Given the description of an element on the screen output the (x, y) to click on. 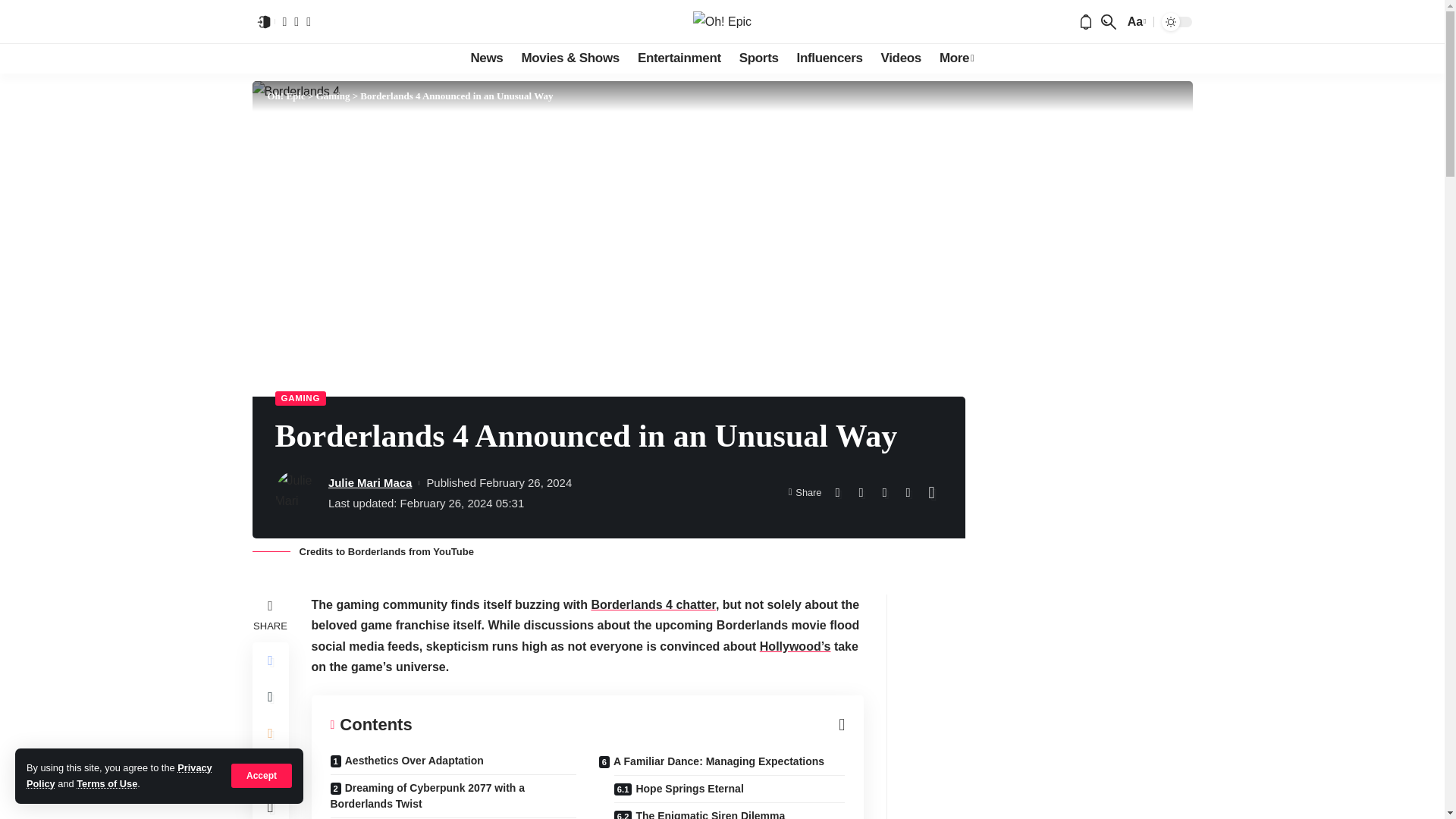
Oh! Epic (722, 21)
Go to Oh! Epic. (285, 95)
News (486, 58)
Sports (758, 58)
Privacy Policy (119, 775)
Entertainment (679, 58)
Go to the Gaming Category archives. (332, 95)
Videos (901, 58)
Gaming (332, 95)
Accept (261, 775)
